Given the description of an element on the screen output the (x, y) to click on. 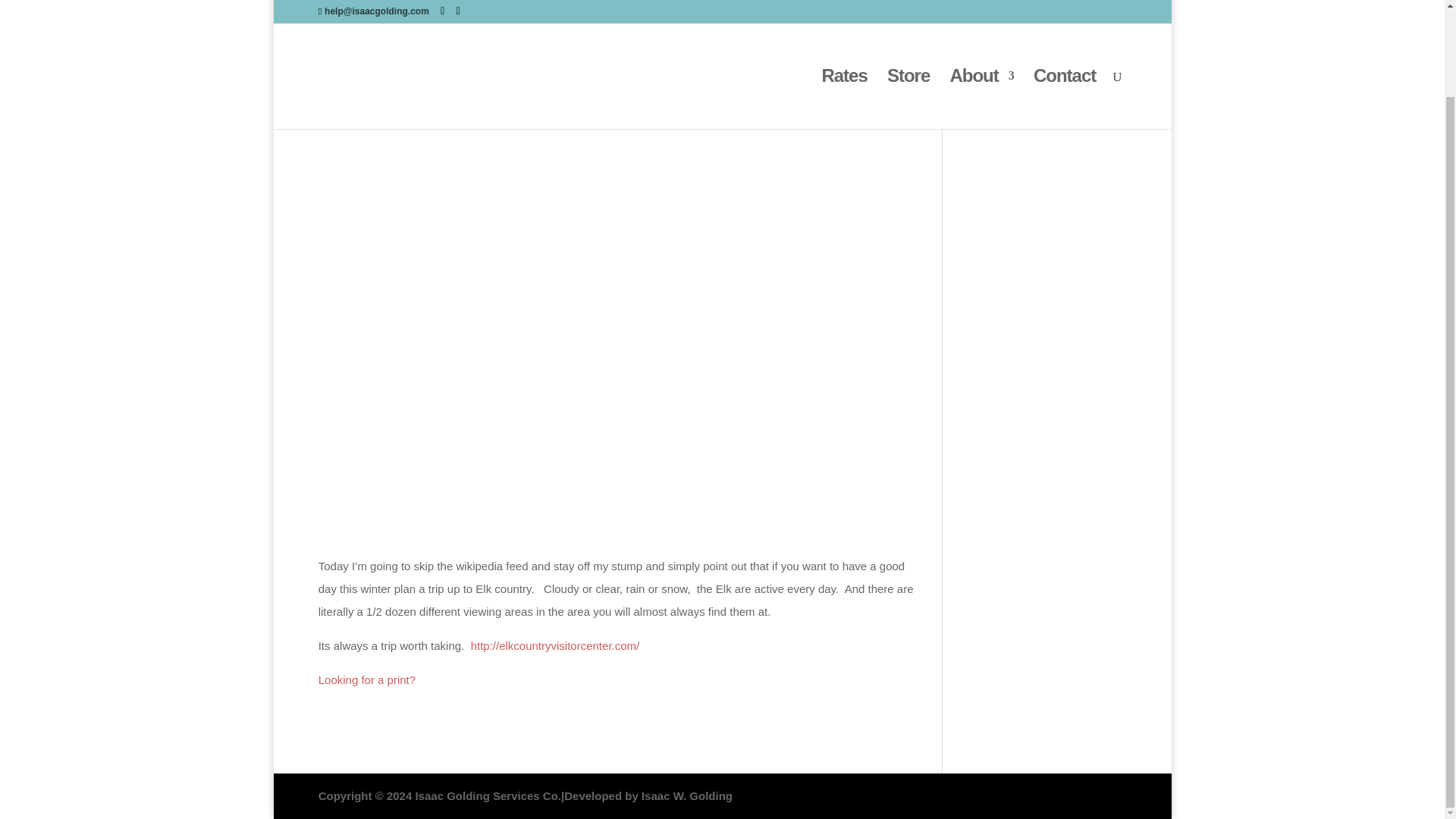
Posts by Isaac W. Golding (376, 78)
Benezette (631, 78)
About (981, 15)
Contact (1064, 15)
Quehanna Wild Area (617, 89)
Pennsylvania (828, 78)
Store (908, 15)
Rates (843, 15)
Search (1100, 44)
Isaac W. Golding (687, 795)
Locations (768, 78)
Isaac Golding Services Co. (487, 795)
Karthaus (718, 78)
DCNR (676, 78)
Isaac W. Golding (376, 78)
